Given the description of an element on the screen output the (x, y) to click on. 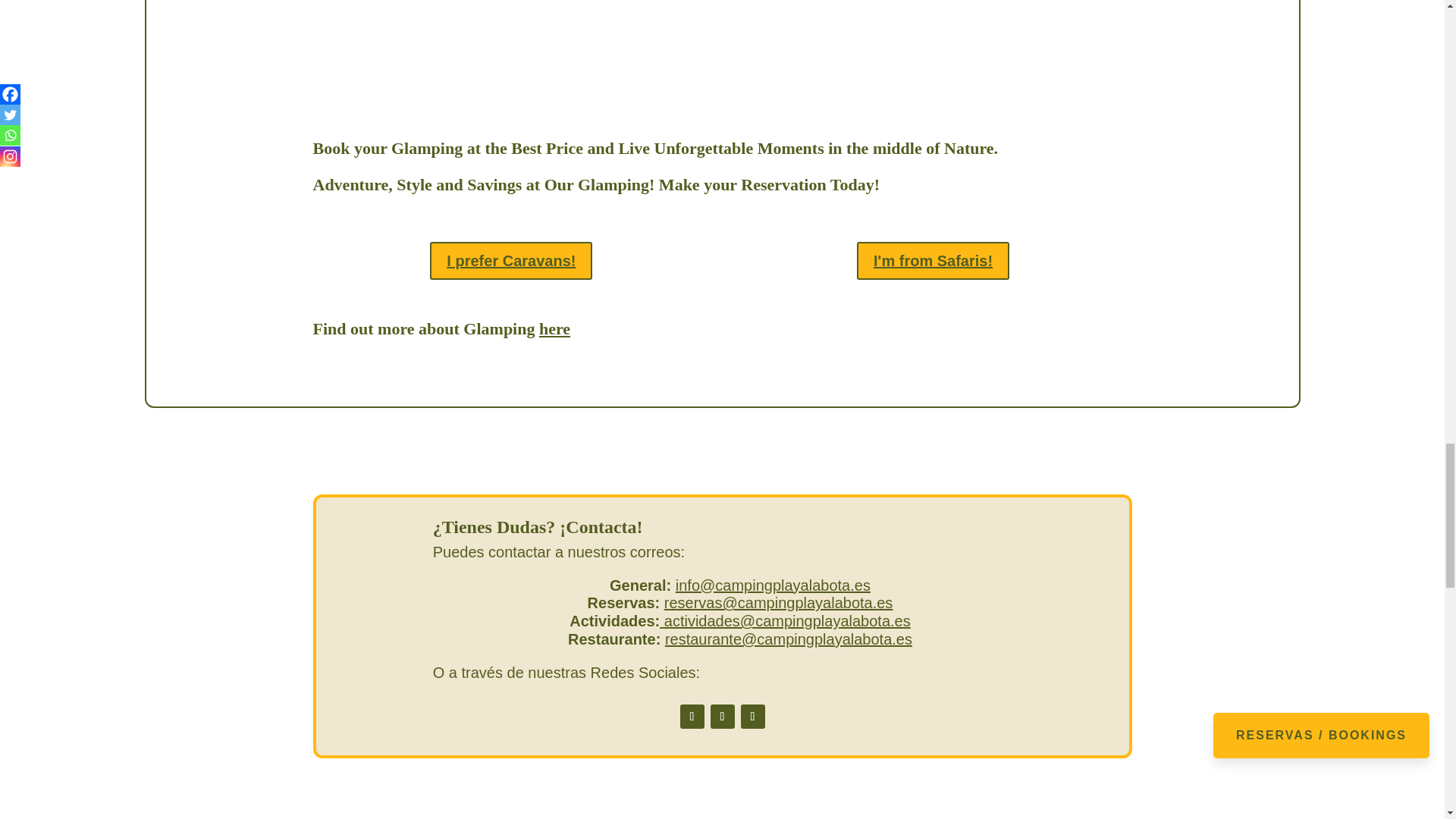
SAFARI 27 (722, 63)
here (554, 328)
I'm from Safaris! (933, 260)
I prefer Caravans! (510, 260)
